Given the description of an element on the screen output the (x, y) to click on. 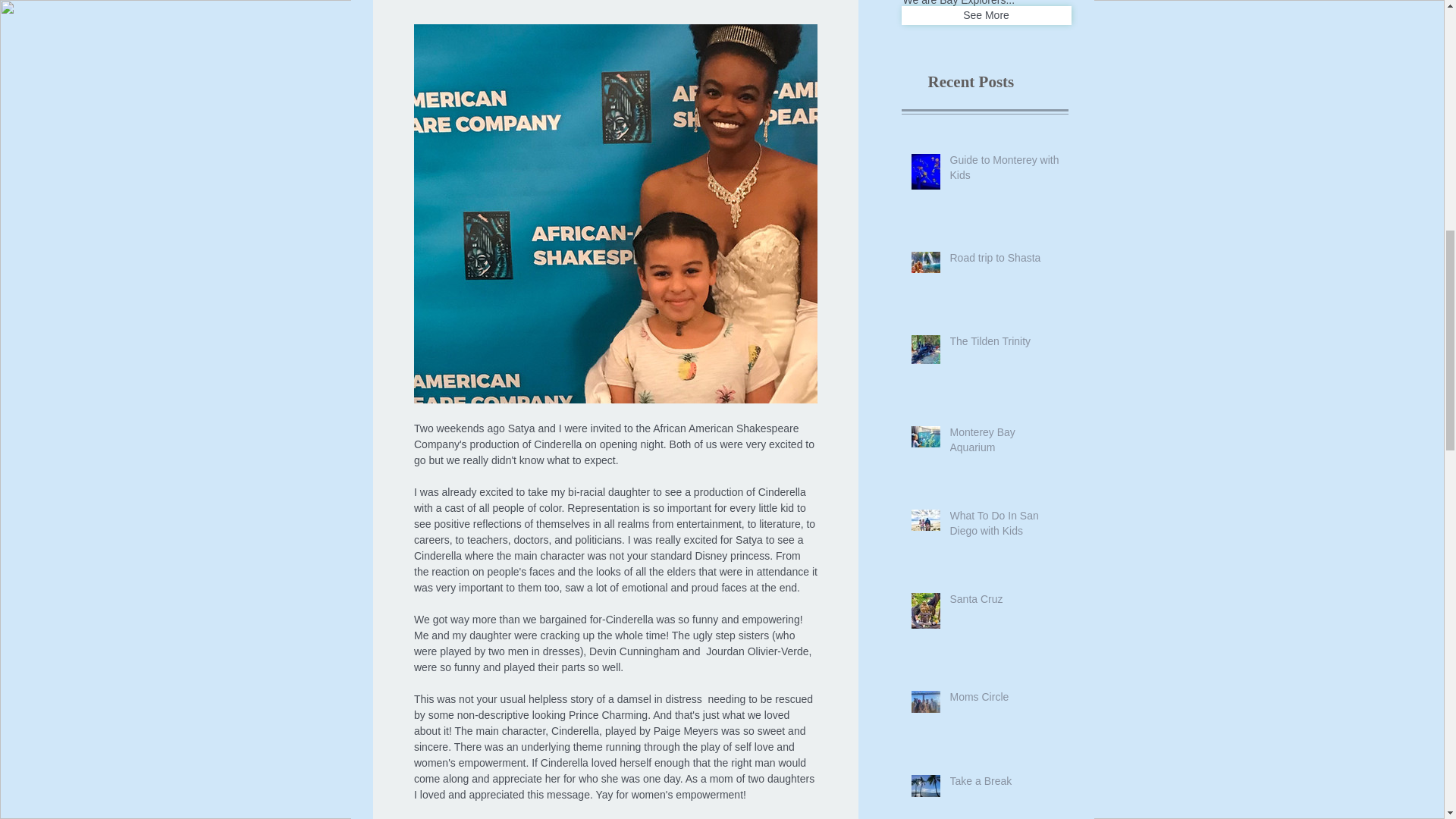
Santa Cruz (1003, 602)
See More (985, 15)
Take a Break (1003, 784)
Moms Circle (1003, 700)
What To Do In San Diego with Kids (1003, 526)
Monterey Bay Aquarium (1003, 443)
Road trip to Shasta (1003, 260)
Guide to Monterey with Kids (1003, 171)
The Tilden Trinity (1003, 344)
